Given the description of an element on the screen output the (x, y) to click on. 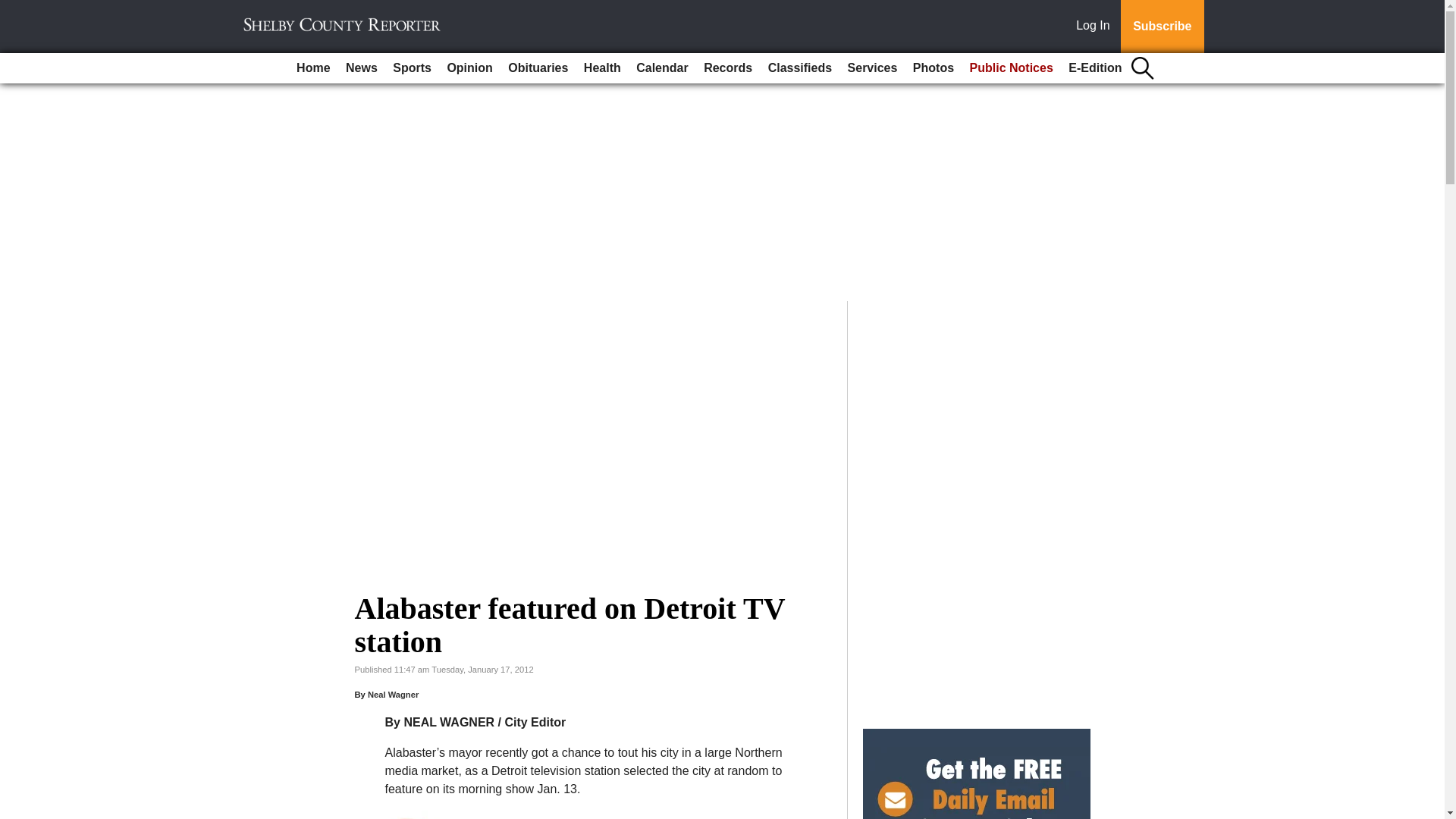
Home (312, 68)
Log In (1095, 26)
Records (727, 68)
Subscribe (1162, 26)
Health (602, 68)
Calendar (662, 68)
frings-crop (409, 814)
News (361, 68)
Services (872, 68)
Obituaries (537, 68)
Classifieds (799, 68)
Sports (412, 68)
Opinion (469, 68)
